Given the description of an element on the screen output the (x, y) to click on. 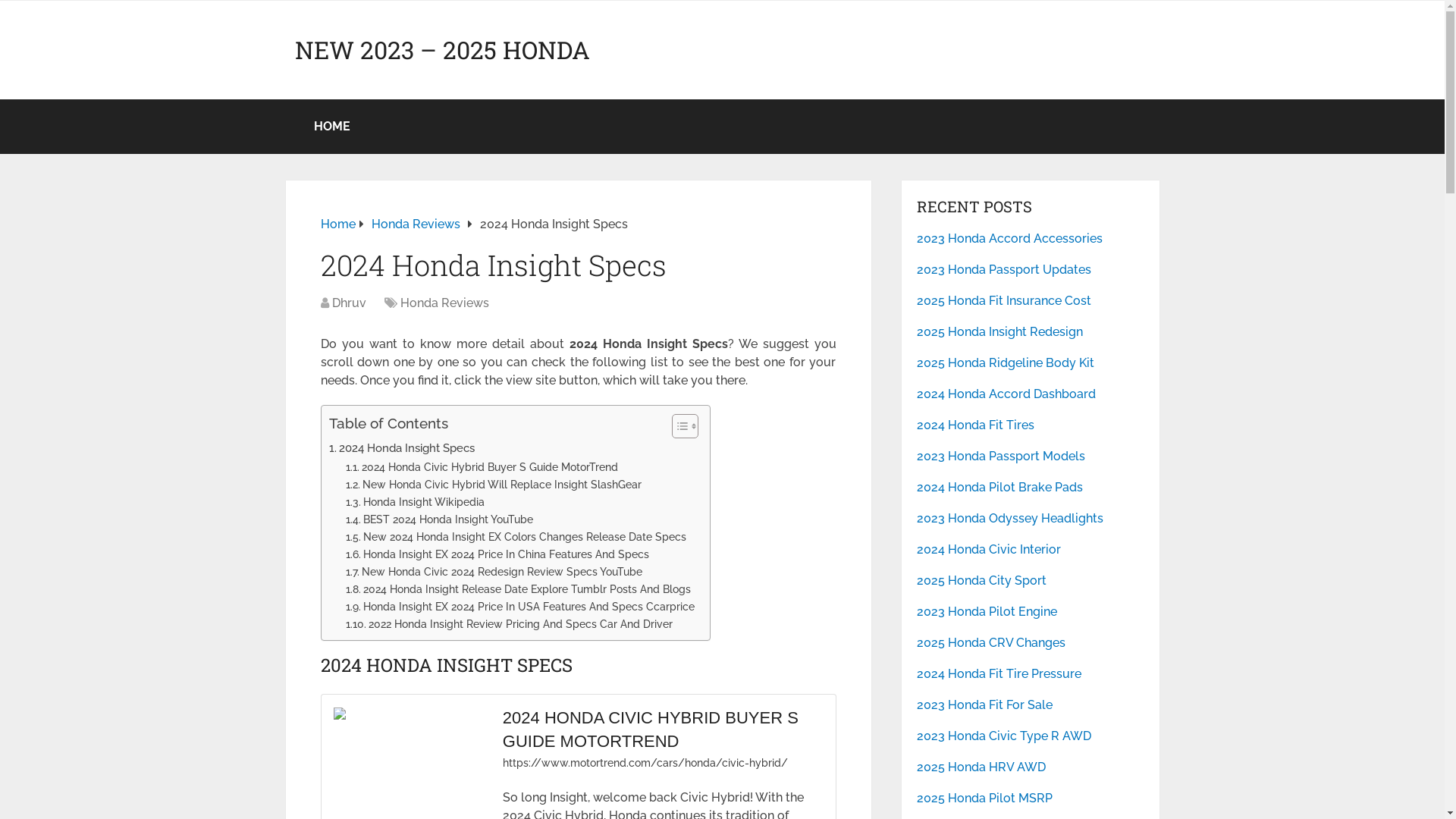
Dhruv Element type: text (349, 302)
New 2024 Honda Insight EX Colors Changes Release Date Specs Element type: text (515, 536)
2024 Honda Accord Dashboard Element type: text (1030, 394)
New Honda Civic Hybrid Will Replace Insight SlashGear Element type: text (493, 483)
2022 Honda Insight Review Pricing And Specs Car And Driver Element type: text (508, 623)
2024 Honda Civic Interior Element type: text (1030, 549)
HOME Element type: text (331, 126)
2023 Honda Passport Updates Element type: text (1030, 269)
2023 Honda Fit For Sale Element type: text (1030, 705)
BEST 2024 Honda Insight YouTube Element type: text (439, 518)
2025 Honda Insight Redesign Element type: text (1030, 332)
Honda Reviews Element type: text (415, 223)
Home Element type: text (337, 223)
2025 Honda HRV AWD Element type: text (1030, 767)
2025 Honda Pilot MSRP Element type: text (1030, 798)
2025 Honda Fit Insurance Cost Element type: text (1030, 300)
2023 Honda Civic Type R AWD Element type: text (1030, 736)
2024 Honda Fit Tire Pressure Element type: text (1030, 674)
2024 Honda Insight Specs Element type: text (401, 448)
2023 Honda Accord Accessories Element type: text (1030, 238)
2025 Honda City Sport Element type: text (1030, 580)
2025 Honda Ridgeline Body Kit Element type: text (1030, 363)
2023 Honda Pilot Engine Element type: text (1030, 611)
Honda Insight EX 2024 Price In China Features And Specs Element type: text (497, 553)
2023 Honda Passport Models Element type: text (1030, 456)
Honda Reviews Element type: text (444, 302)
Honda Insight Wikipedia Element type: text (414, 501)
2025 Honda CRV Changes Element type: text (1030, 642)
New Honda Civic 2024 Redesign Review Specs YouTube Element type: text (493, 571)
2023 Honda Odyssey Headlights Element type: text (1030, 518)
2024 Honda Fit Tires Element type: text (1030, 425)
2024 Honda Pilot Brake Pads Element type: text (1030, 487)
2024 Honda Civic Hybrid Buyer S Guide MotorTrend Element type: text (481, 466)
